Given the description of an element on the screen output the (x, y) to click on. 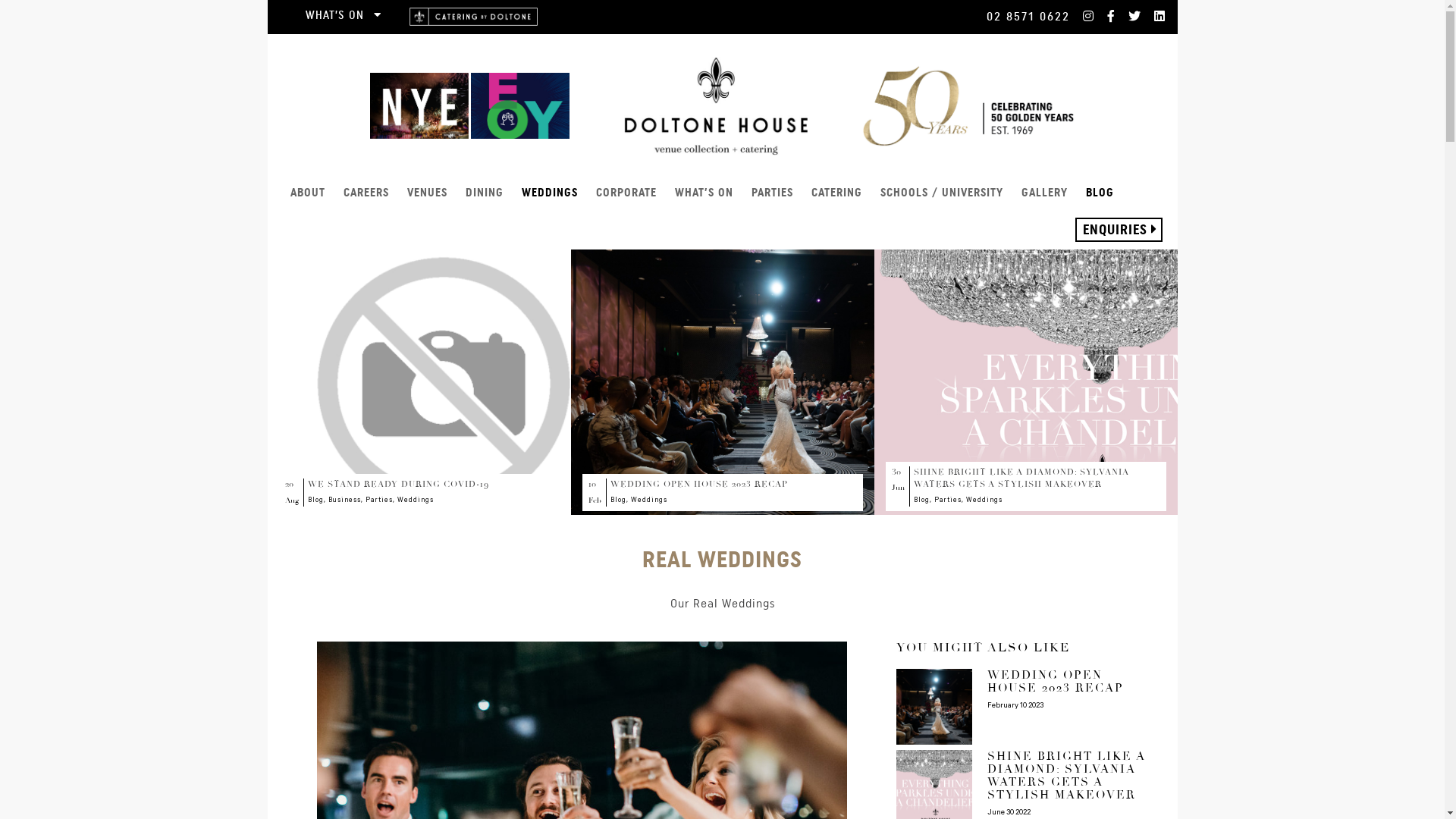
WEDDINGS Element type: text (549, 192)
SCHOOLS / UNIVERSITY Element type: text (941, 192)
CAREERS Element type: text (365, 192)
DINING Element type: text (484, 192)
GALLERY Element type: text (1043, 192)
VENUES Element type: text (426, 192)
02 8571 0622 Element type: text (1027, 16)
CATERING Element type: text (836, 192)
WEDDING OPEN HOUSE 2023 RECAP Element type: text (1070, 688)
ENQUIRIES Element type: text (1118, 229)
ABOUT Element type: text (307, 192)
PARTIES Element type: text (771, 192)
CORPORATE Element type: text (626, 192)
BLOG Element type: text (1099, 192)
